Given the description of an element on the screen output the (x, y) to click on. 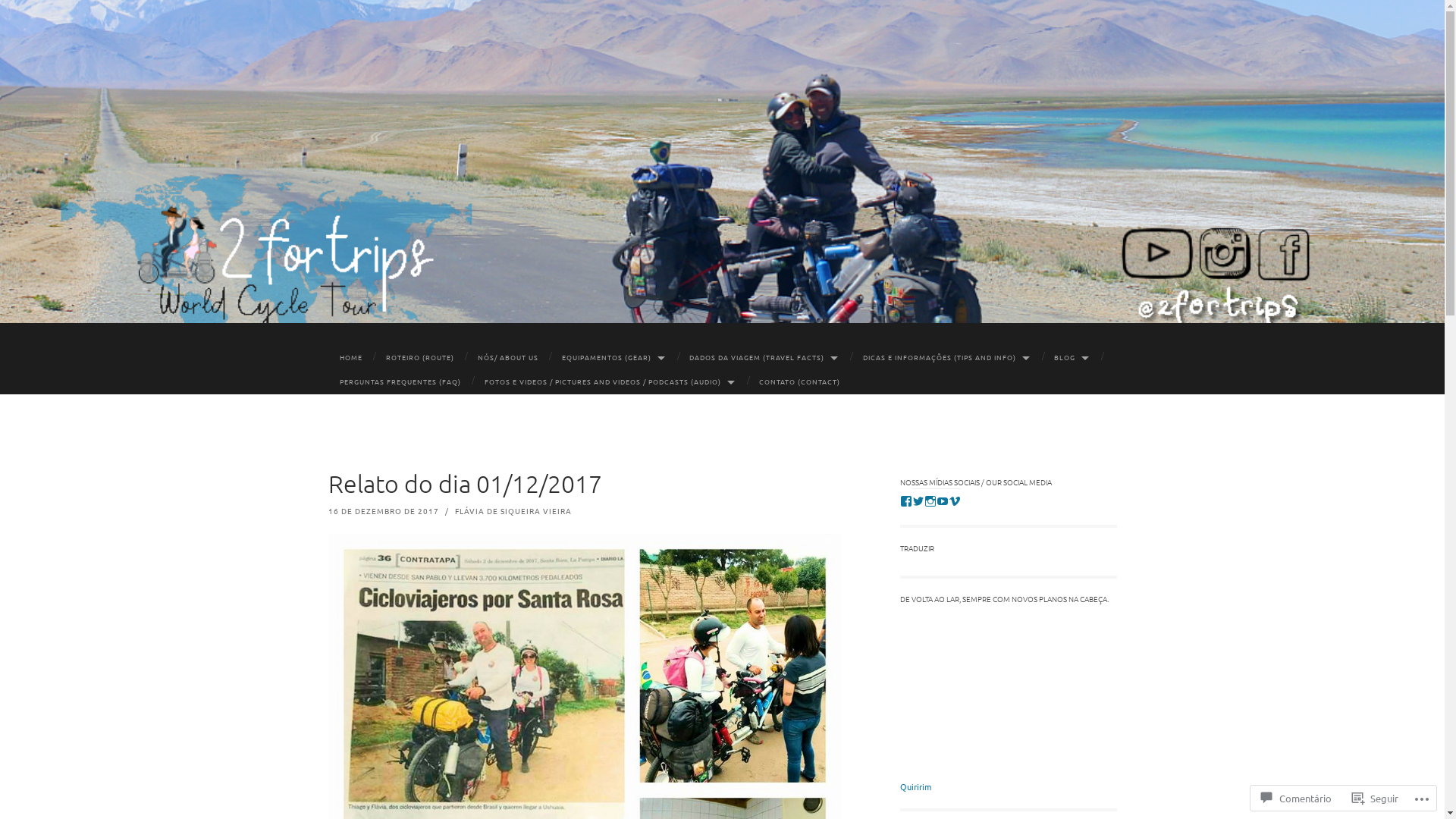
16 DE DEZEMBRO DE 2017 Element type: text (382, 510)
2FORTRIPS Element type: text (754, 214)
BLOG Element type: text (1071, 357)
EQUIPAMENTOS (GEAR) Element type: text (613, 357)
DADOS DA VIAGEM (TRAVEL FACTS) Element type: text (763, 357)
FOTOS E VIDEOS / PICTURES AND VIDEOS / PODCASTS (AUDIO) Element type: text (609, 382)
CONTATO (CONTACT) Element type: text (799, 382)
Google Maps incorporado Element type: hover (1007, 693)
Quiririm Element type: text (914, 786)
ROTEIRO (ROUTE) Element type: text (419, 357)
Seguir Element type: text (1375, 797)
HOME Element type: text (350, 357)
PERGUNTAS FREQUENTES (FAQ) Element type: text (399, 382)
